Given the description of an element on the screen output the (x, y) to click on. 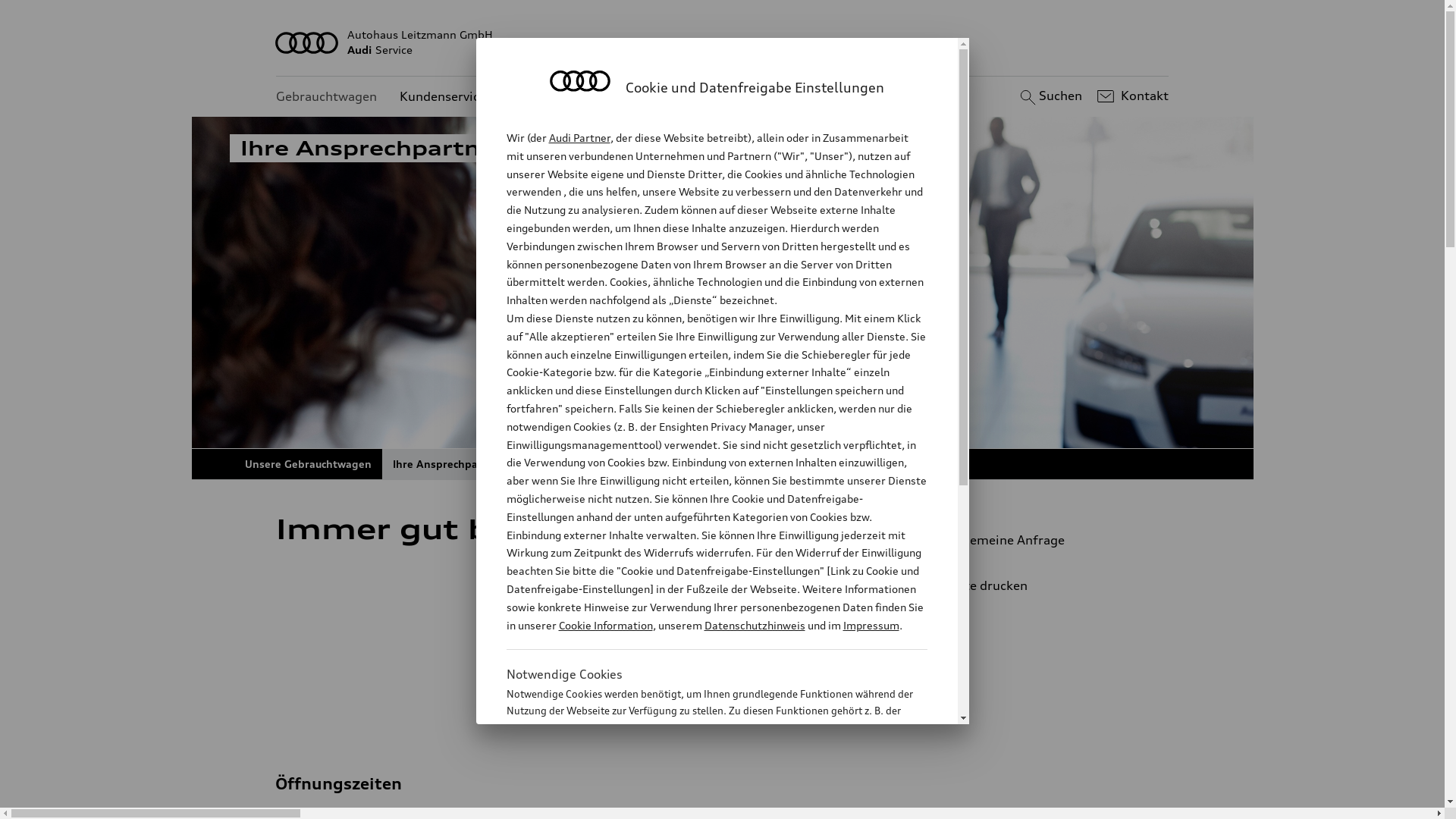
Audi Partner Element type: text (579, 137)
Allgemeine Anfrage Element type: text (1038, 539)
Kontakt Element type: text (1130, 96)
Cookie Information Element type: text (605, 624)
Unsere Gebrauchtwagen Element type: text (307, 463)
Seite drucken Element type: text (1044, 585)
Datenschutzhinweis Element type: text (753, 624)
Ihre Ansprechpartner Element type: text (448, 463)
Kundenservice Element type: text (442, 96)
Autohaus Leitzmann GmbH
AudiService Element type: text (722, 42)
Impressum Element type: text (871, 624)
Suchen Element type: text (1049, 96)
Cookie Information Element type: text (700, 802)
Gebrauchtwagen Element type: text (326, 96)
